Given the description of an element on the screen output the (x, y) to click on. 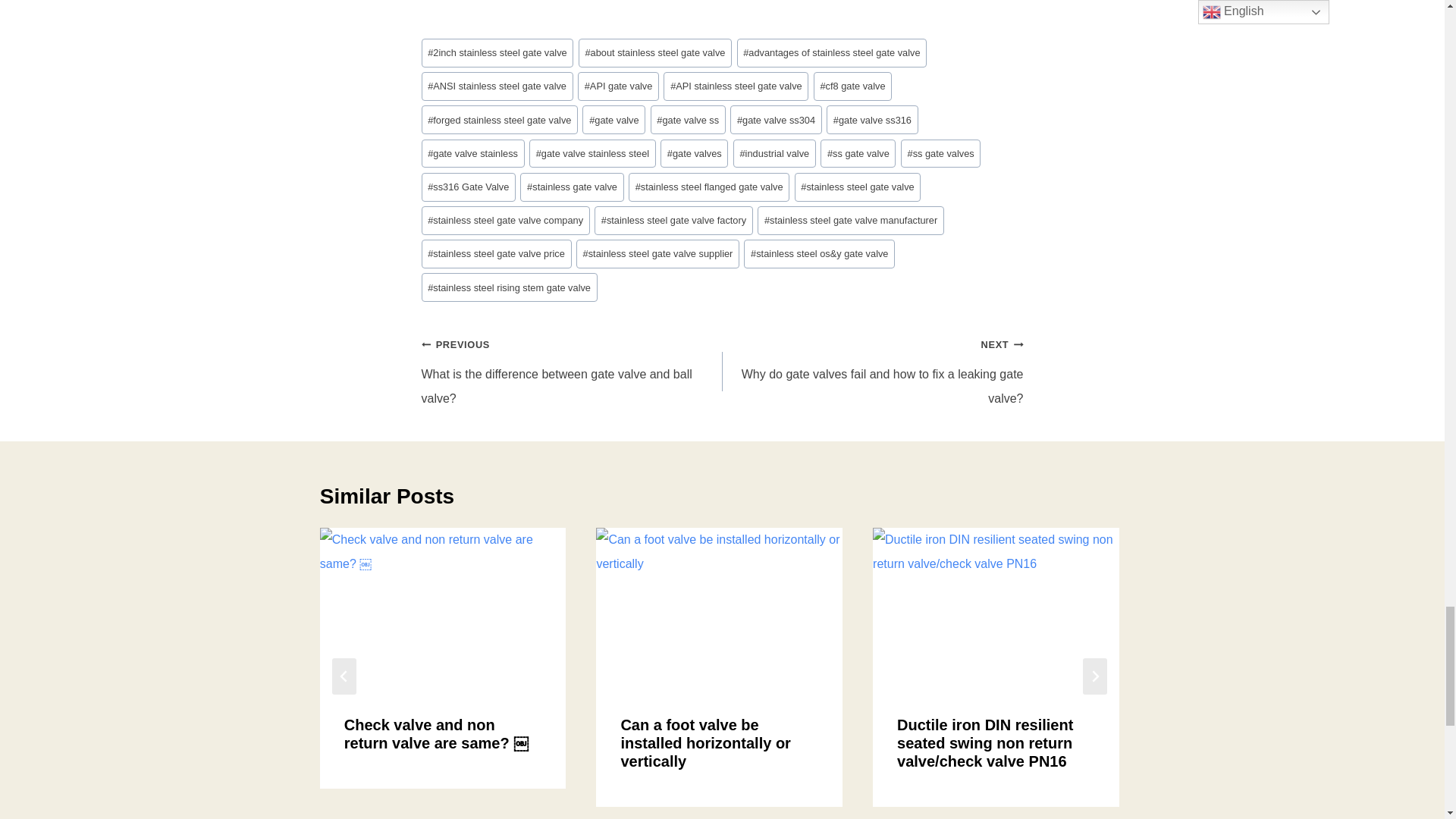
API gate valve (618, 86)
cf8 gate valve (852, 86)
ANSI stainless steel gate valve (497, 86)
API stainless steel gate valve (735, 86)
about stainless steel gate valve (655, 52)
gate valve (613, 119)
ss gate valve (858, 153)
gate valve stainless steel (592, 153)
2inch stainless steel gate valve (497, 52)
ss gate valves (941, 153)
gate valve ss304 (776, 119)
industrial valve (774, 153)
gate valves (694, 153)
advantages of stainless steel gate valve (831, 52)
gate valve ss316 (872, 119)
